Given the description of an element on the screen output the (x, y) to click on. 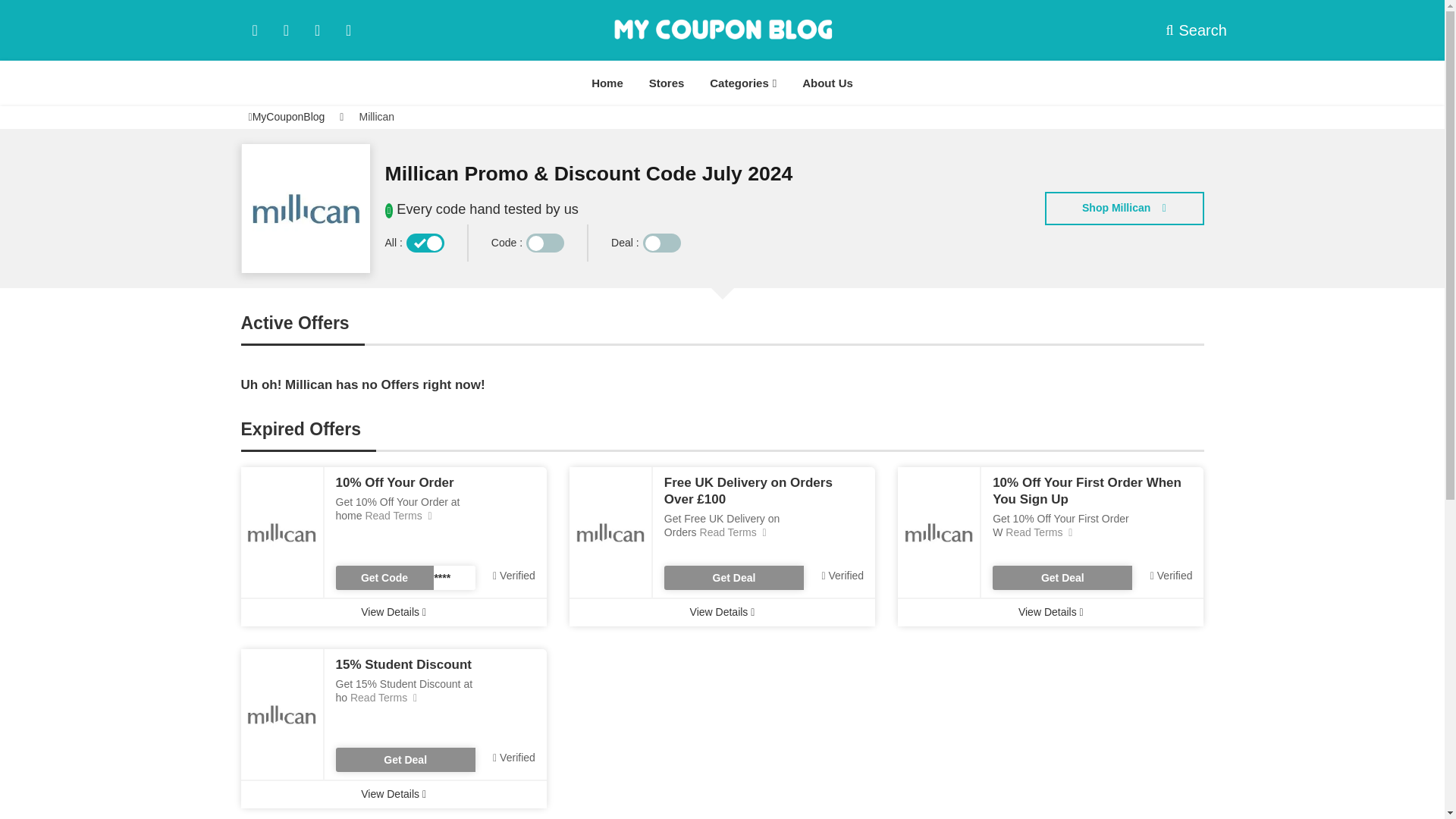
About Us (827, 83)
Home (606, 83)
Millican (376, 117)
Categories (742, 83)
Read Terms   (732, 532)
Read Terms   (381, 697)
Shop Millican    (1124, 208)
Stores (666, 83)
No Code (404, 759)
No Code (1062, 577)
Read Terms   (397, 515)
Search (1185, 30)
No Code (733, 577)
Read Terms   (1037, 532)
